Given the description of an element on the screen output the (x, y) to click on. 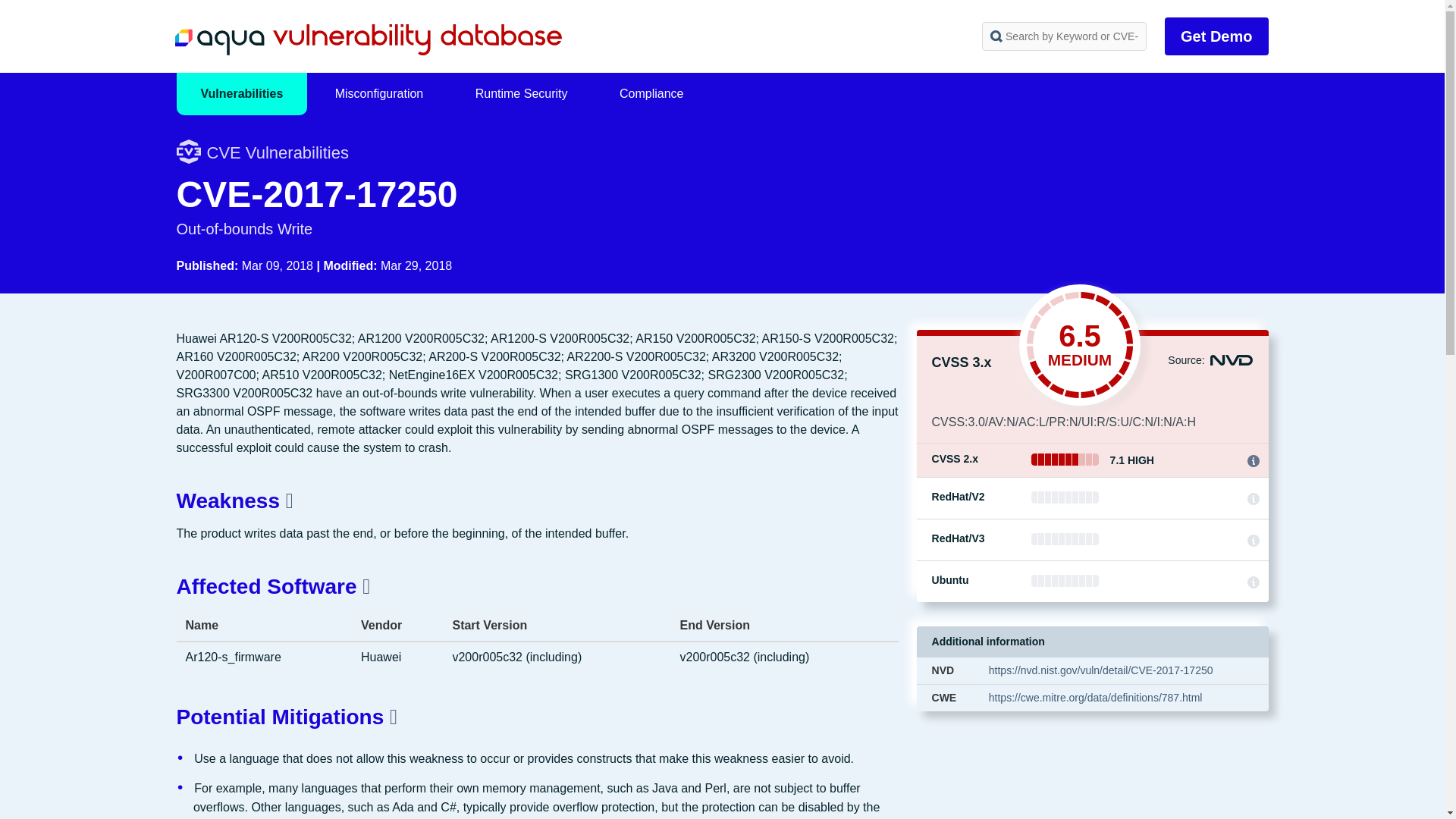
Compliance (651, 93)
Aqua Vulnerability Database (367, 39)
Get Demo (1216, 36)
Runtime Security (521, 93)
Vulnerabilities (241, 93)
Misconfiguration (379, 93)
Aqua Vulnerability Database (367, 39)
